Given the description of an element on the screen output the (x, y) to click on. 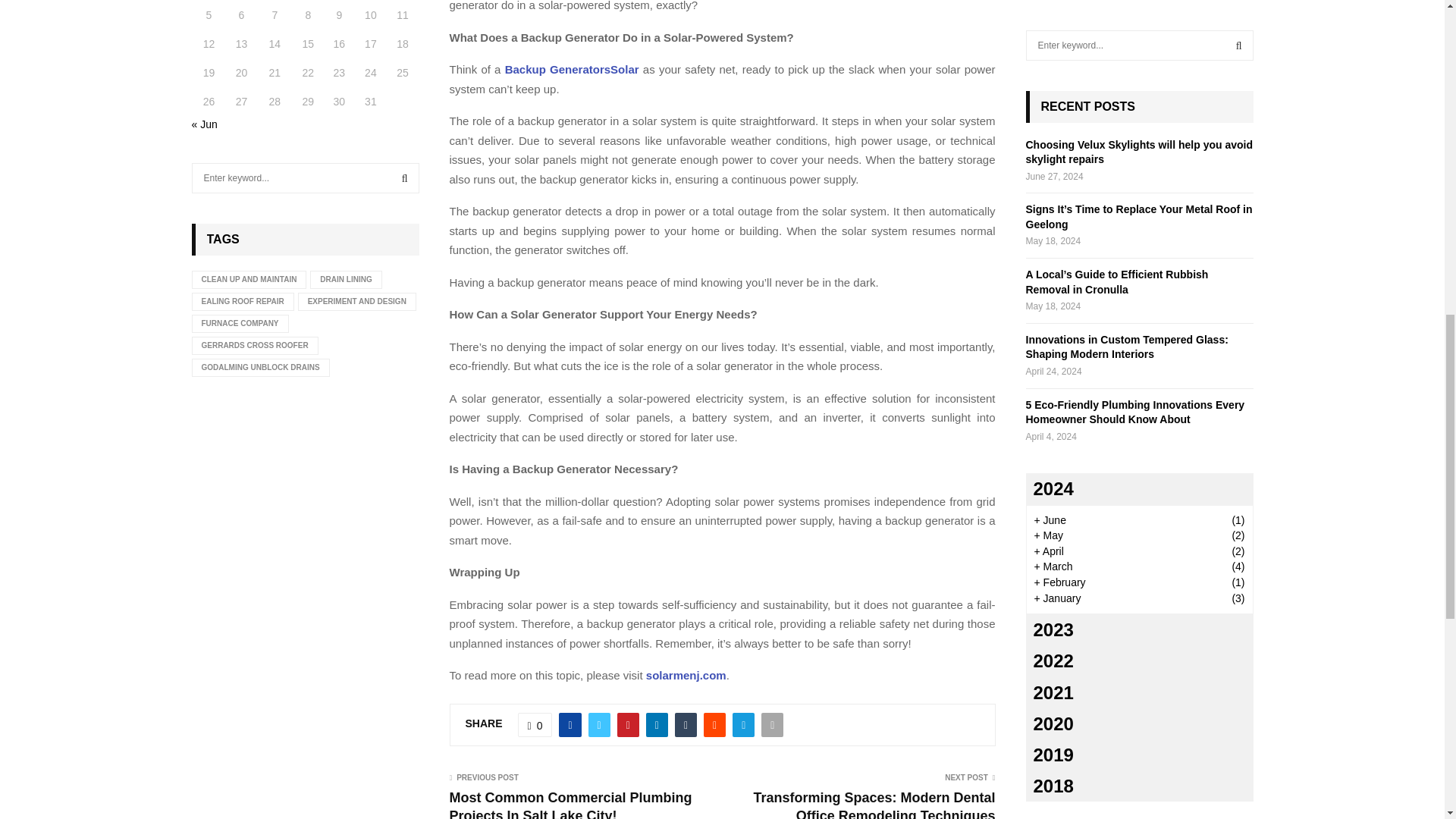
solarmenj.com (686, 675)
Backup GeneratorsSolar (572, 69)
0 (535, 724)
Like (535, 724)
